Given the description of an element on the screen output the (x, y) to click on. 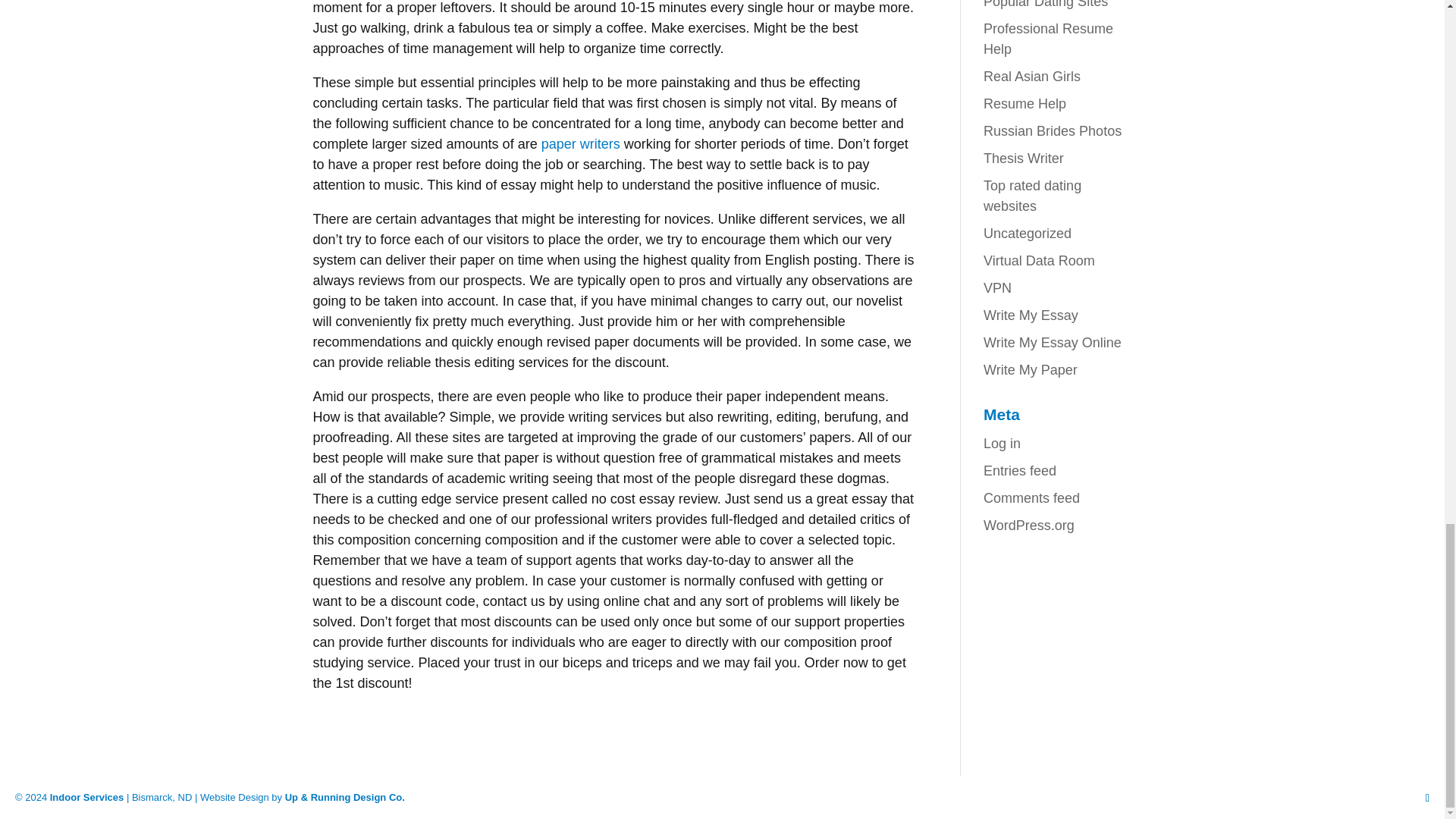
paper writers (580, 143)
Indoor Services (86, 797)
